Given the description of an element on the screen output the (x, y) to click on. 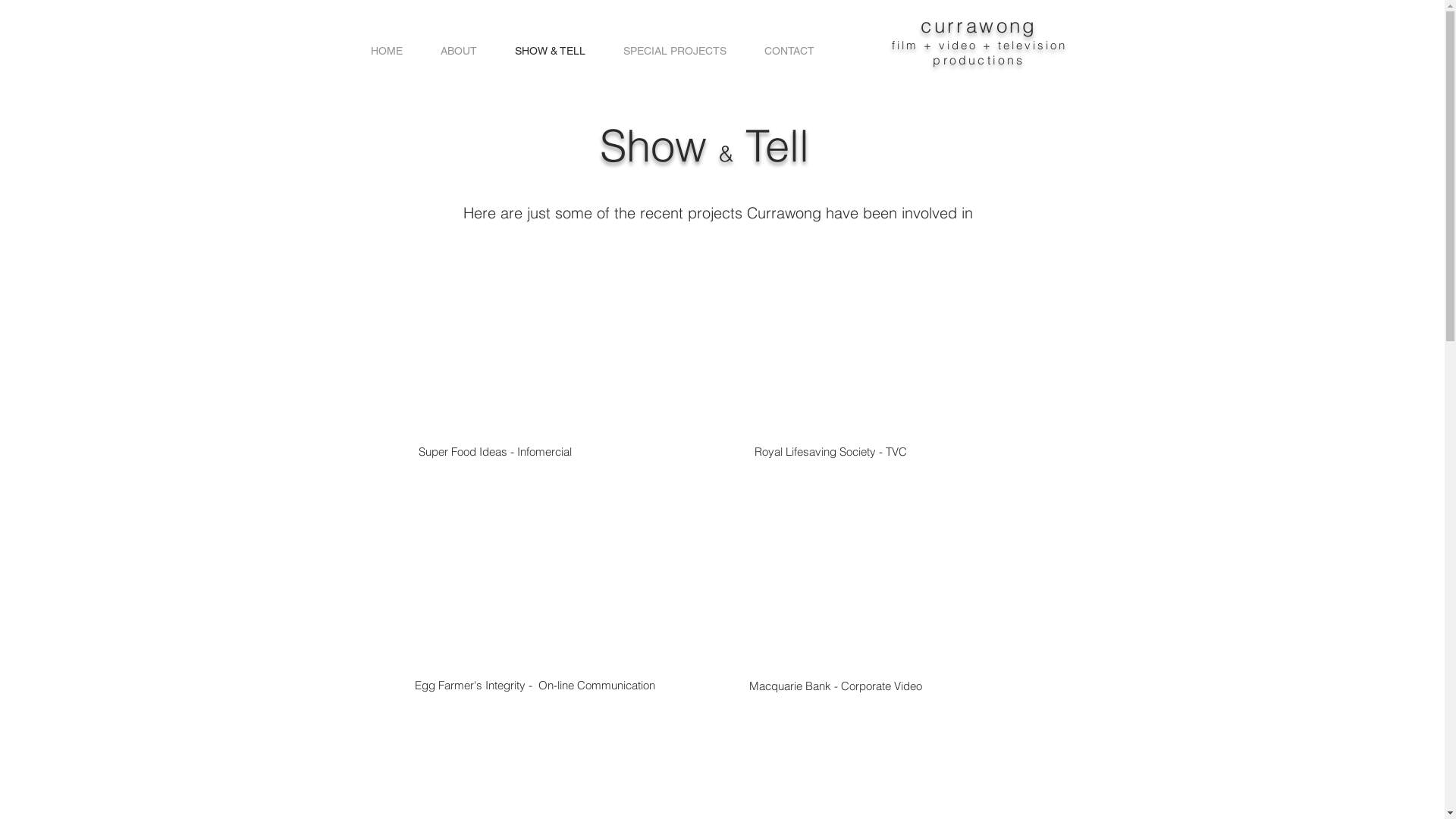
External YouTube Element type: hover (552, 577)
HOME Element type: text (386, 50)
ABOUT Element type: text (458, 50)
External YouTube Element type: hover (889, 345)
SPECIAL PROJECTS Element type: text (673, 50)
currawong Element type: text (978, 27)
SHOW & TELL Element type: text (549, 50)
film + video + television Element type: text (978, 44)
CONTACT Element type: text (788, 50)
External YouTube Element type: hover (549, 345)
External YouTube Element type: hover (889, 577)
productions Element type: text (978, 59)
